Given the description of an element on the screen output the (x, y) to click on. 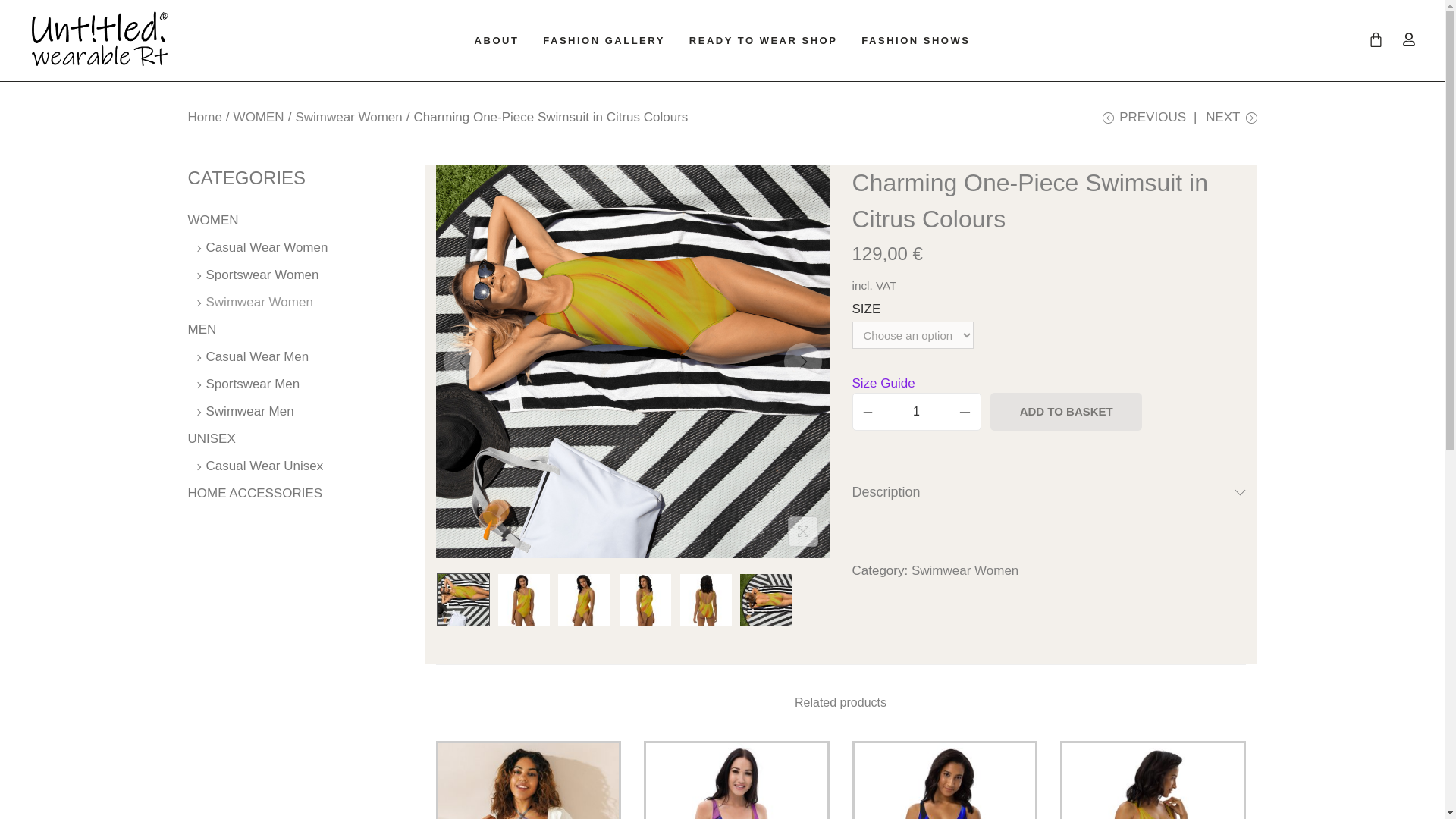
WOMEN (257, 116)
FASHION GALLERY (604, 40)
READY TO WEAR SHOP (762, 40)
NEXT (1230, 123)
Home (204, 116)
Swimwear Women (348, 116)
PREVIOUS (1144, 123)
1 (915, 411)
ABOUT (496, 40)
FASHION SHOWS (915, 40)
